Given the description of an element on the screen output the (x, y) to click on. 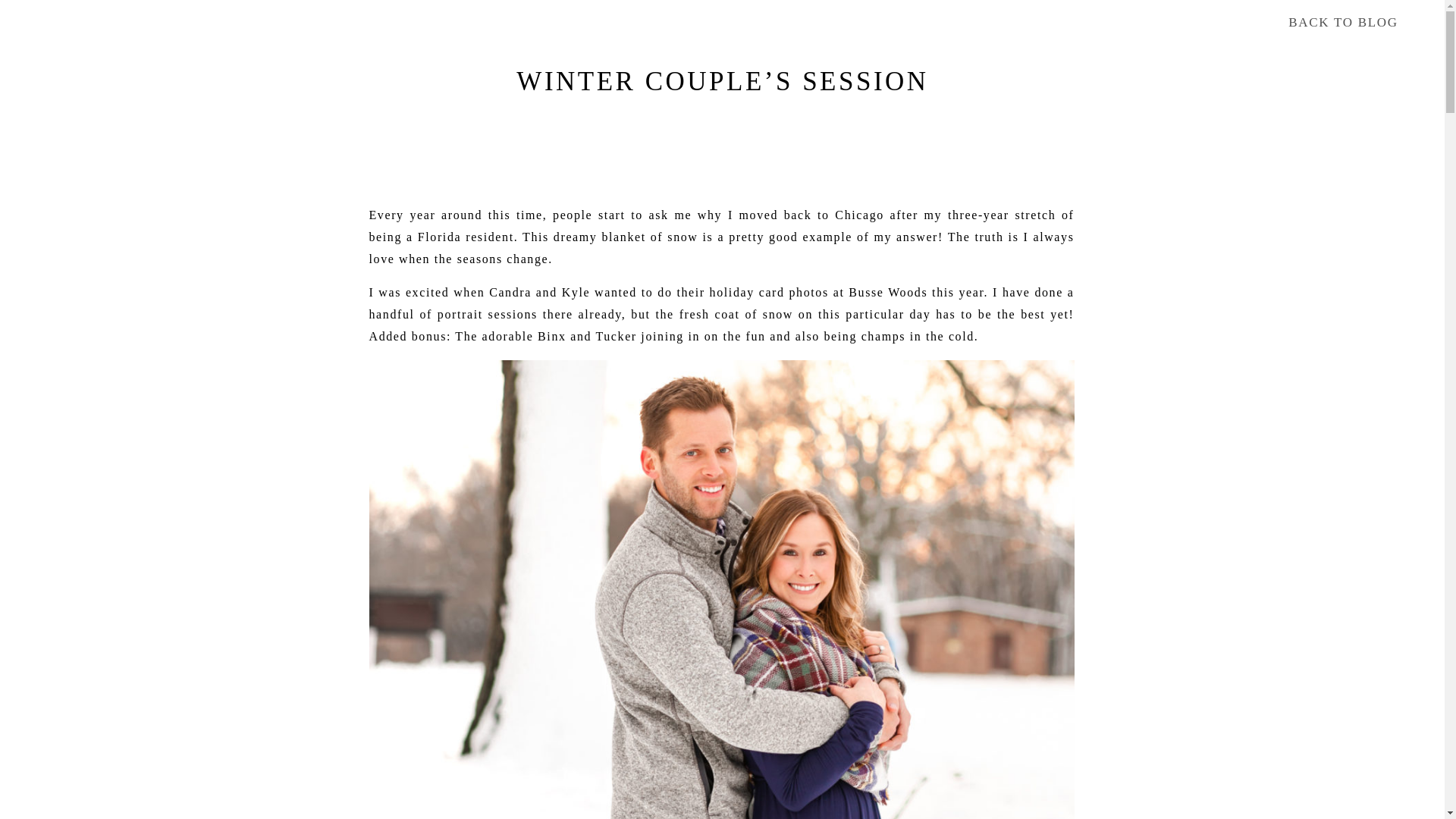
BACK TO BLOG (1342, 24)
